Given the description of an element on the screen output the (x, y) to click on. 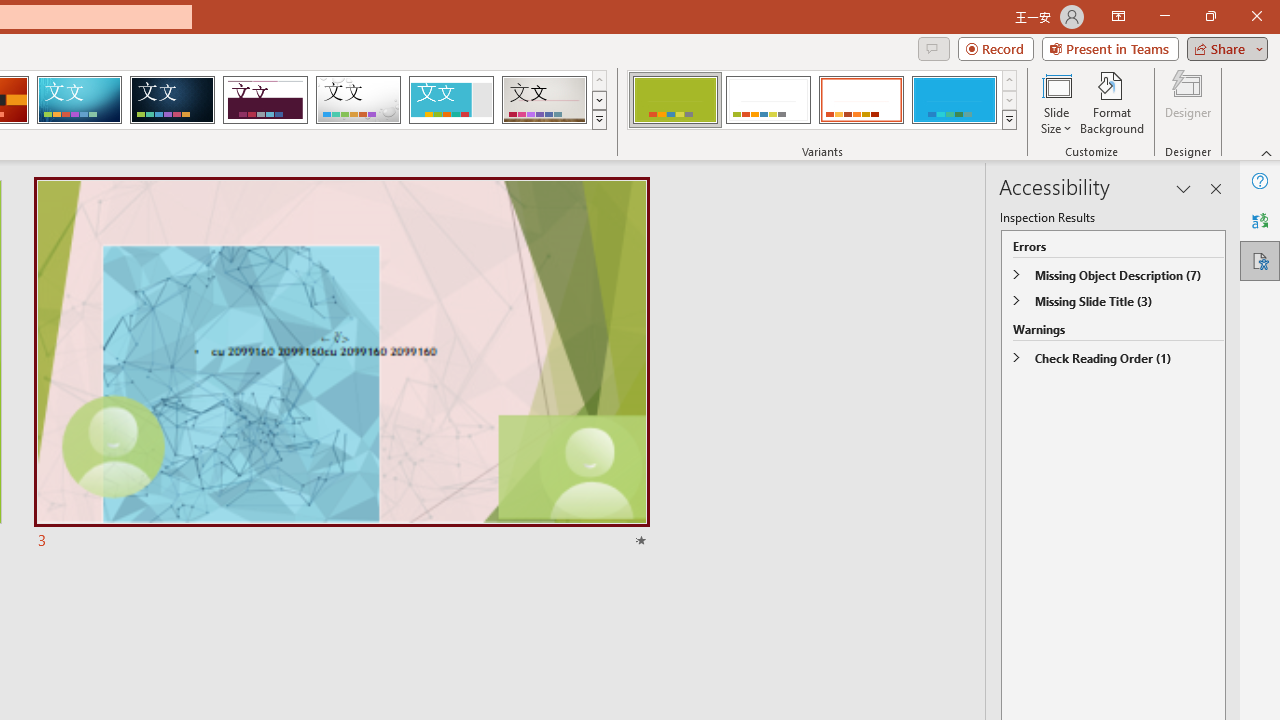
AutomationID: ThemeVariantsGallery (822, 99)
Basis Variant 4 (953, 100)
Basis Variant 3 (861, 100)
Damask (171, 100)
Basis Variant 1 (674, 100)
Basis Variant 2 (768, 100)
Slide Size (1056, 102)
